Given the description of an element on the screen output the (x, y) to click on. 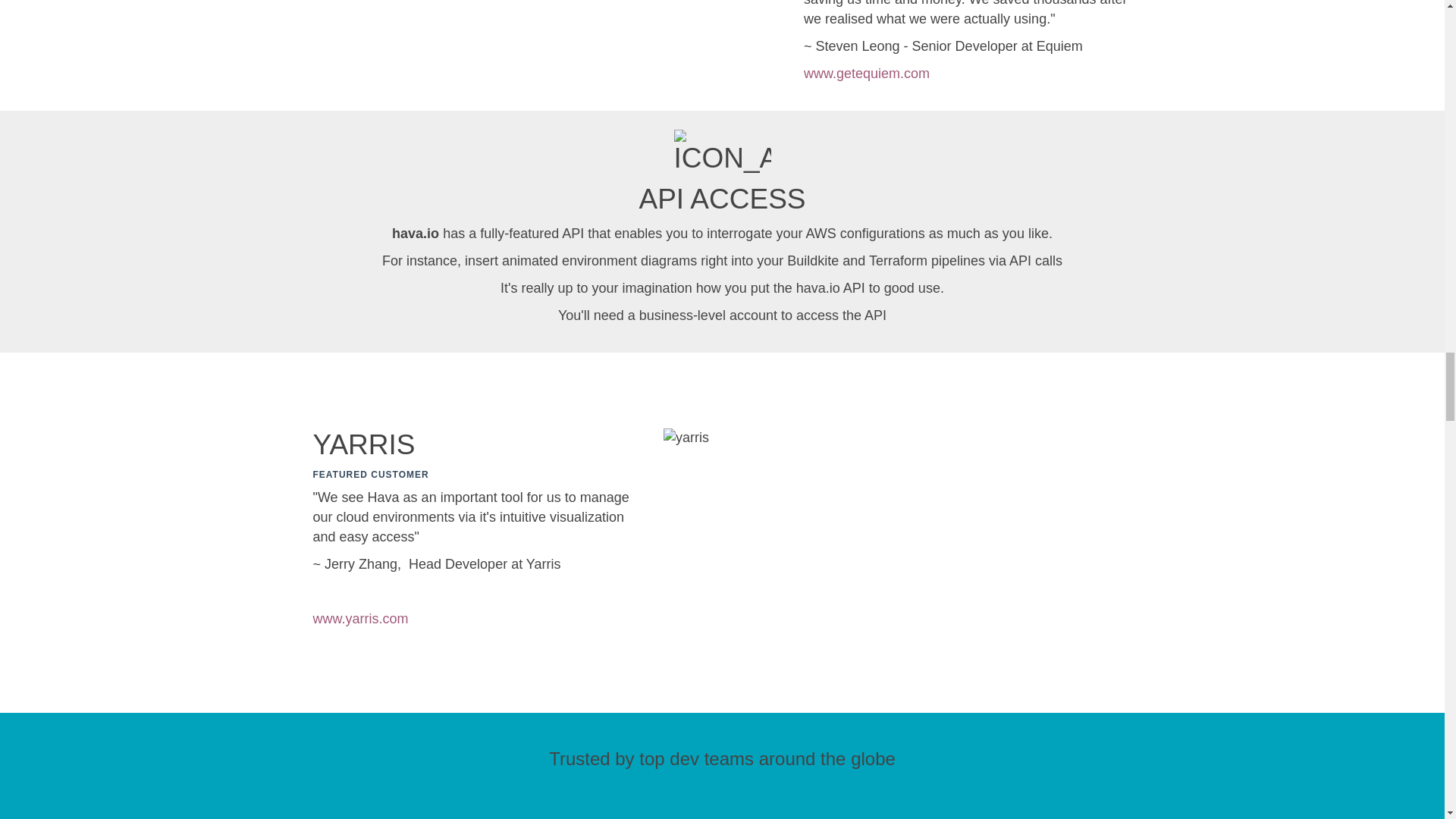
www.yarris.com (360, 618)
www.getequiem.com (866, 73)
